Given the description of an element on the screen output the (x, y) to click on. 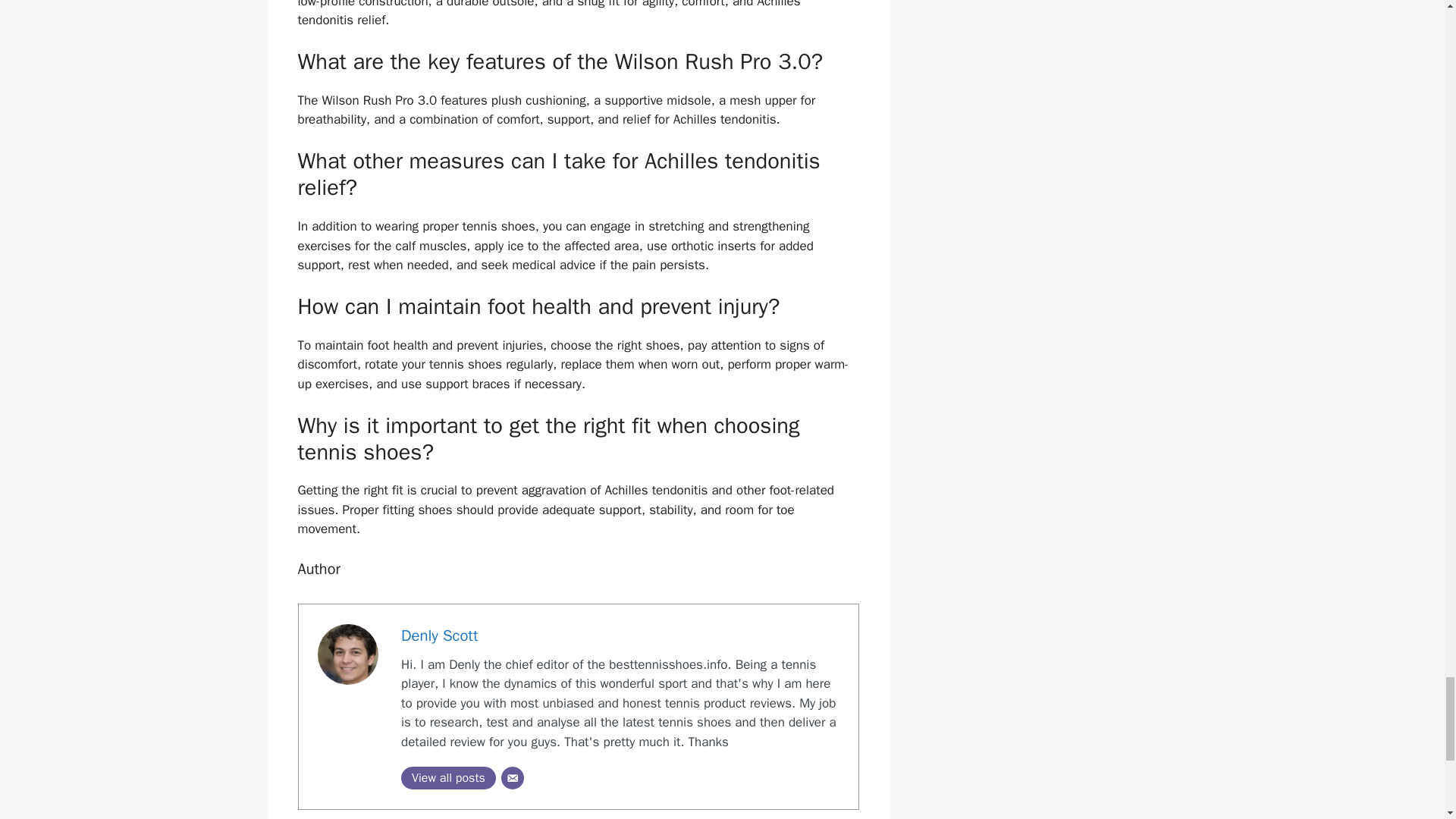
Denly Scott (439, 635)
Denly Scott (439, 635)
View all posts (448, 777)
View all posts (448, 777)
